Given the description of an element on the screen output the (x, y) to click on. 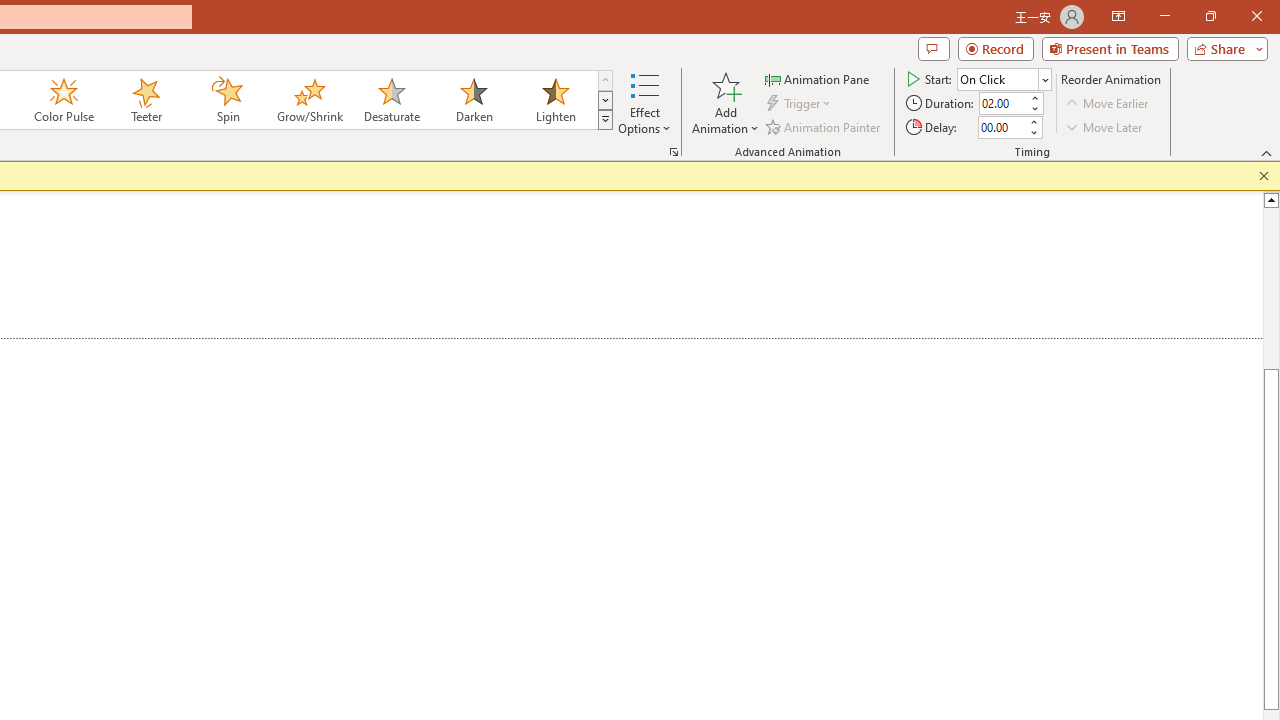
Lighten (555, 100)
Add Animation (725, 102)
Row Down (605, 100)
Trigger (799, 103)
Animation Styles (605, 120)
Animation Painter (824, 126)
Share (1223, 48)
Start (1004, 78)
Comments (933, 48)
Ribbon Display Options (1118, 16)
Color Pulse (63, 100)
Less (1033, 132)
Record (995, 48)
Animation Delay (1002, 127)
